Given the description of an element on the screen output the (x, y) to click on. 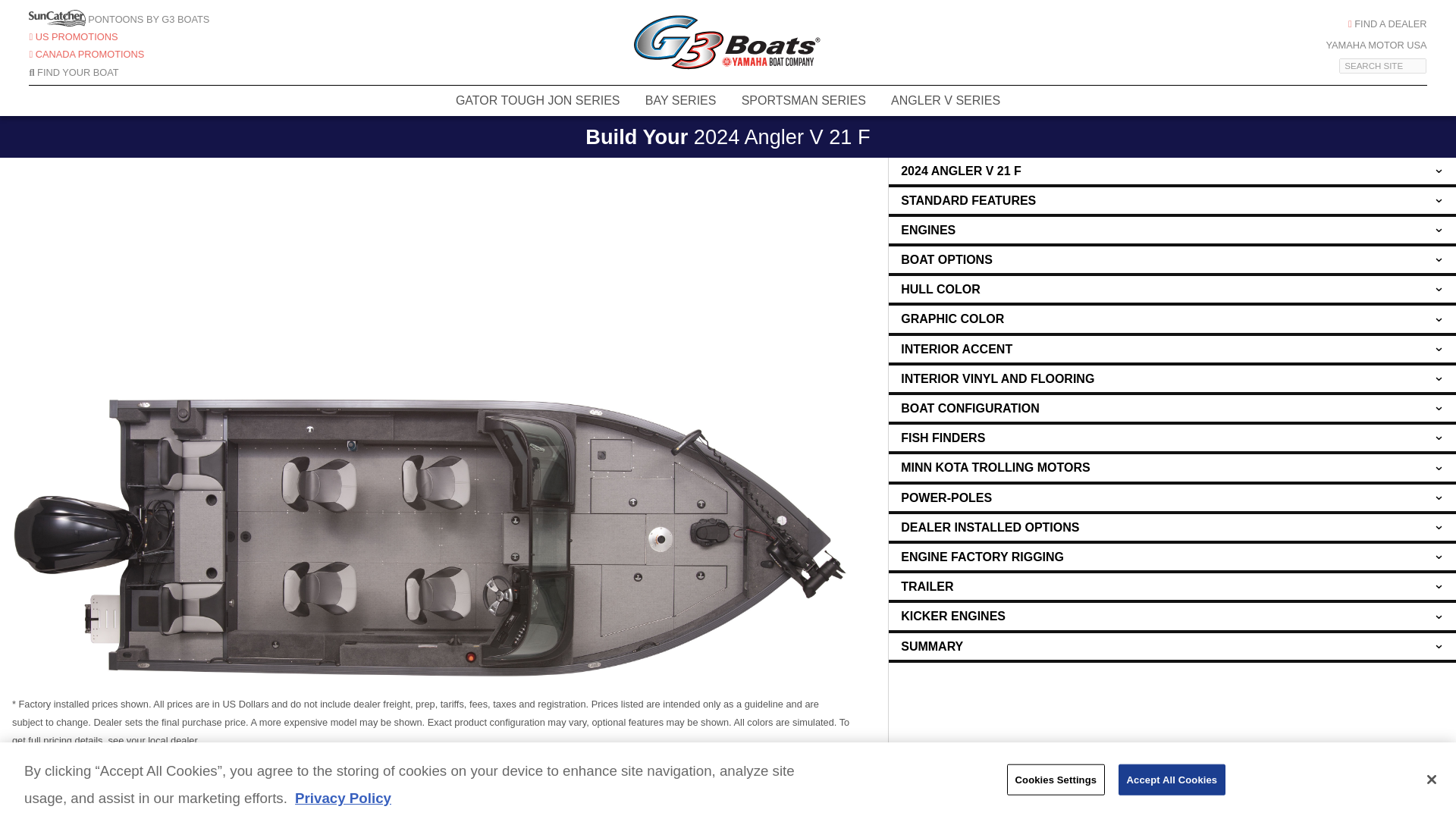
US PROMOTIONS (73, 36)
BAY SERIES (679, 100)
GATOR TOUGH JON SERIES (537, 100)
CANADA PROMOTIONS (86, 53)
FIND A DEALER (1387, 23)
SPORTSMAN SERIES (803, 100)
FIND YOUR BOAT (73, 71)
ANGLER V SERIES (945, 100)
YAMAHA MOTOR USA (1375, 44)
PONTOONS BY G3 BOATS (119, 19)
